Given the description of an element on the screen output the (x, y) to click on. 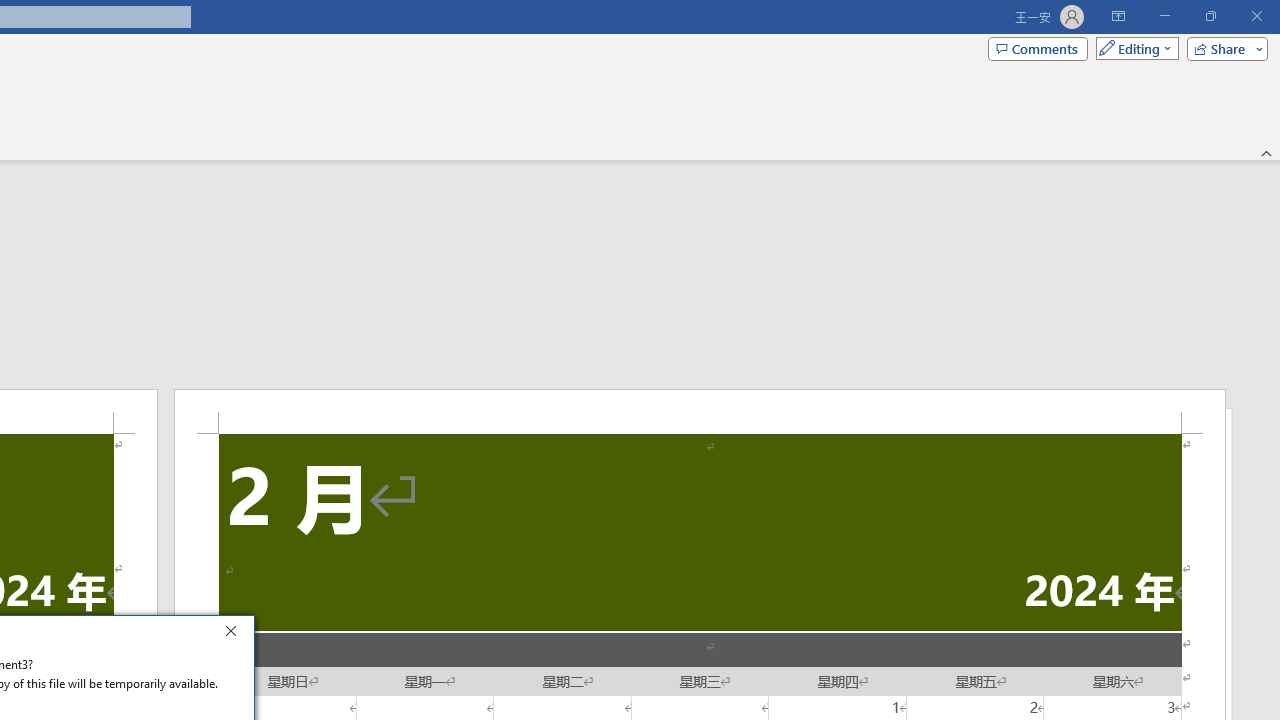
Close (236, 633)
Restore Down (1210, 16)
Comments (1038, 48)
Minimize (1164, 16)
Mode (1133, 47)
Ribbon Display Options (1118, 16)
Header -Section 2- (700, 411)
Collapse the Ribbon (1267, 152)
Share (1223, 48)
